Given the description of an element on the screen output the (x, y) to click on. 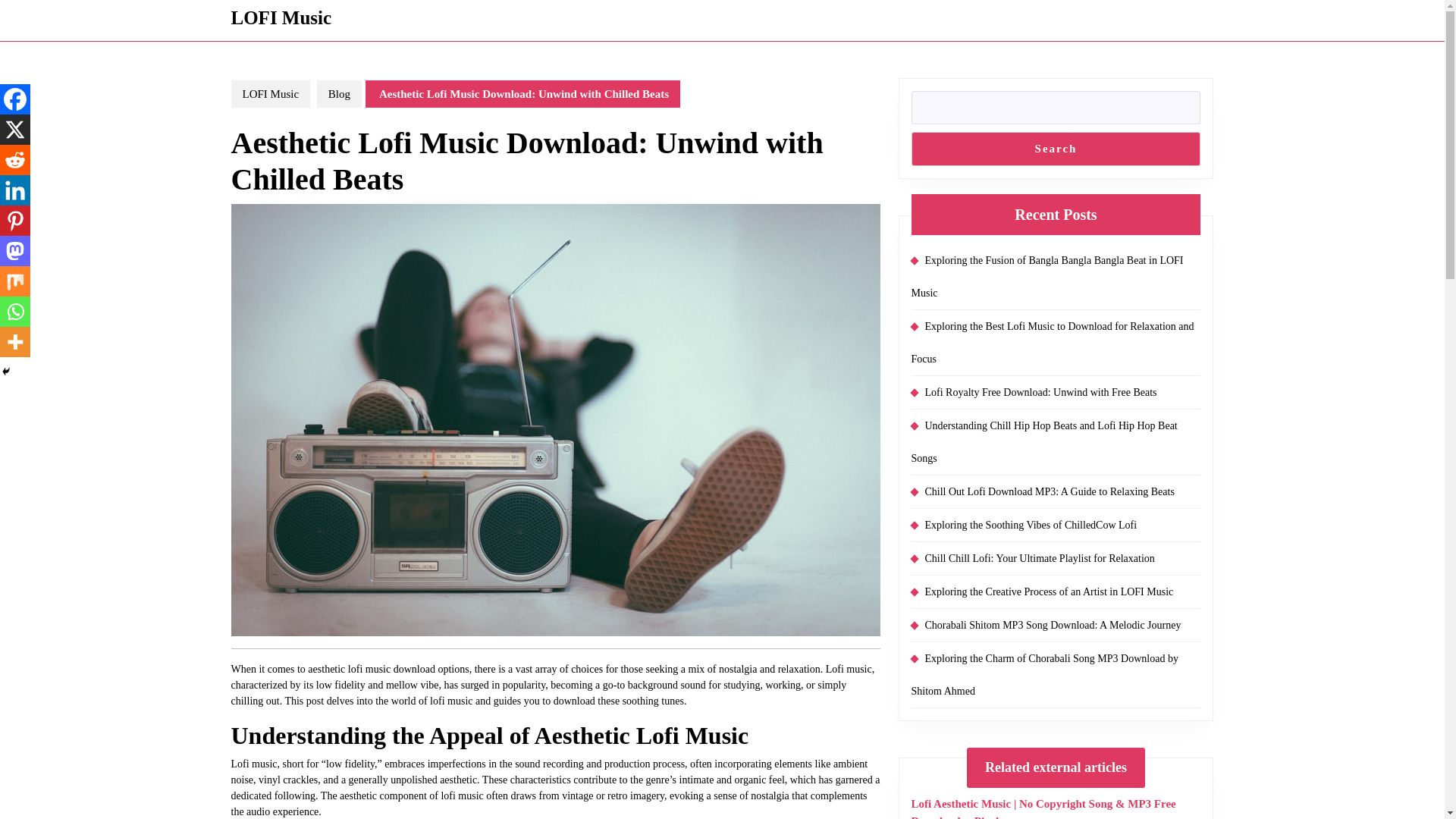
Mix (15, 281)
Blog (339, 93)
Lofi Royalty Free Download: Unwind with Free Beats (1040, 392)
Chill Chill Lofi: Your Ultimate Playlist for Relaxation (1039, 557)
Whatsapp (15, 311)
Hide (5, 371)
LOFI Music (280, 17)
Exploring the Soothing Vibes of ChilledCow Lofi (1030, 523)
More (15, 341)
Linkedin (15, 190)
Chorabali Shitom MP3 Song Download: A Melodic Journey (1052, 624)
Pinterest (15, 220)
Mastodon (15, 250)
